Given the description of an element on the screen output the (x, y) to click on. 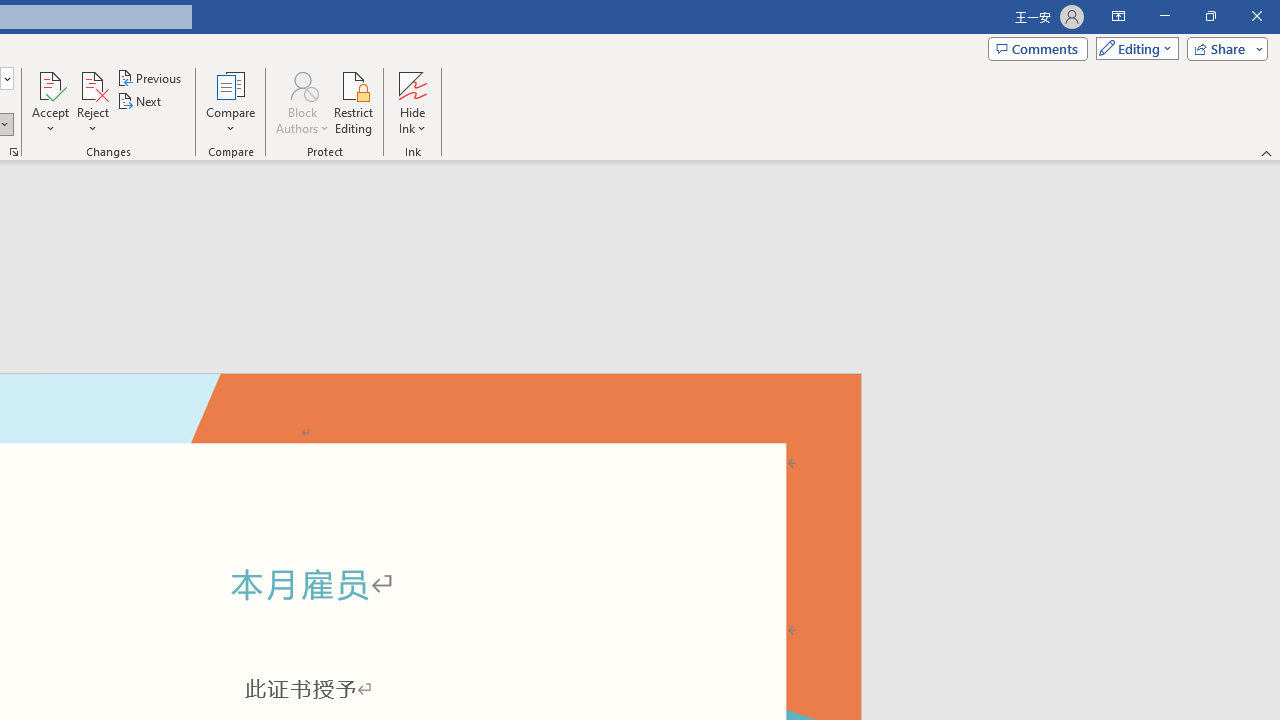
Reject and Move to Next (92, 84)
Restrict Editing (353, 102)
Block Authors (302, 102)
Compare (230, 102)
Next (140, 101)
Accept (50, 102)
